Given the description of an element on the screen output the (x, y) to click on. 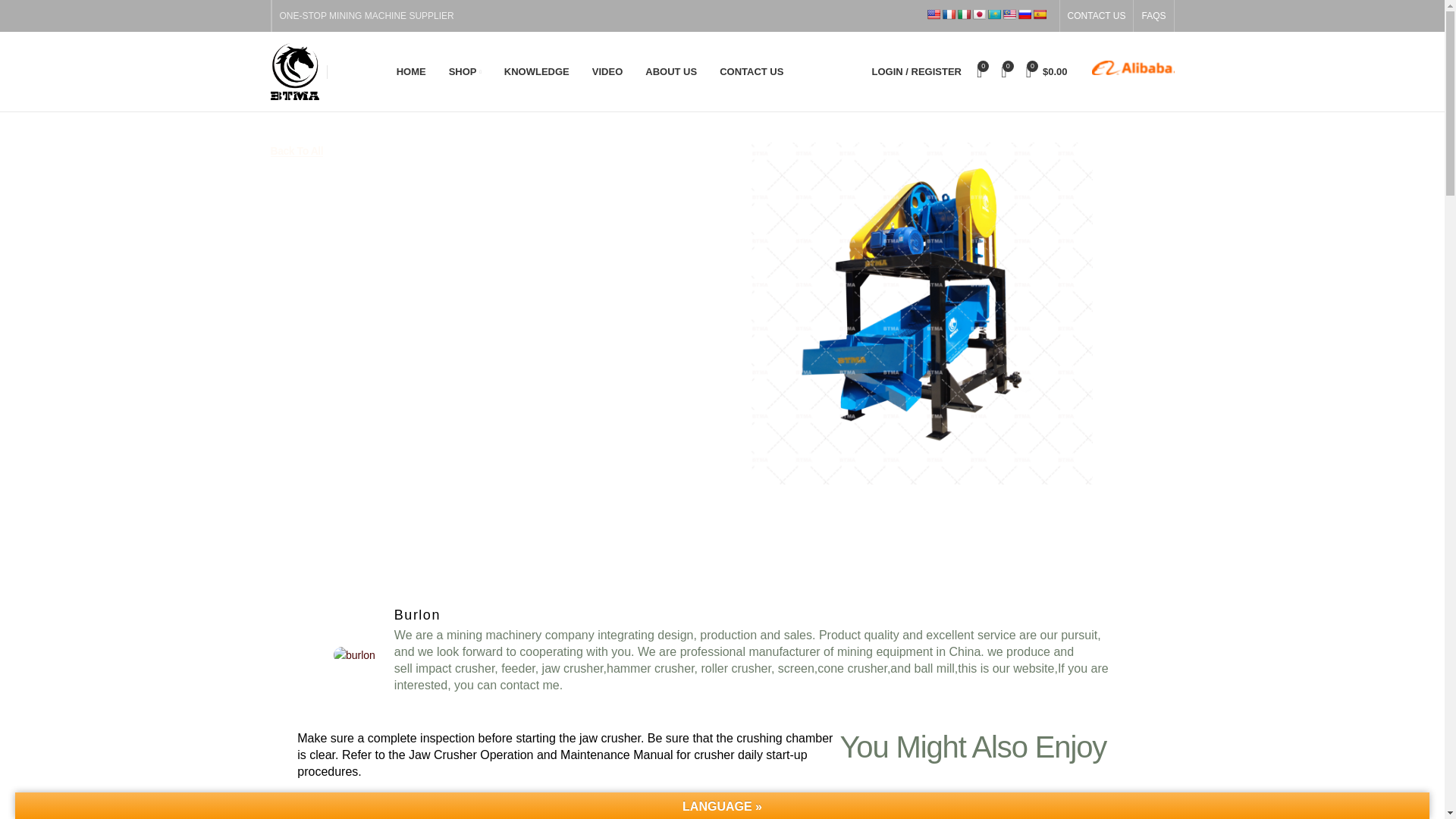
QQ20211122-150310 (1128, 65)
FAQS (1153, 15)
My account (916, 71)
Italian (963, 14)
Kazakh (994, 14)
Russian (1023, 14)
French (948, 14)
CONTACT US (1096, 15)
English (933, 14)
Spanish (1039, 14)
Japanese (978, 14)
HOME (411, 71)
SHOP (465, 71)
Shopping cart (1046, 71)
Malay (1009, 14)
